Given the description of an element on the screen output the (x, y) to click on. 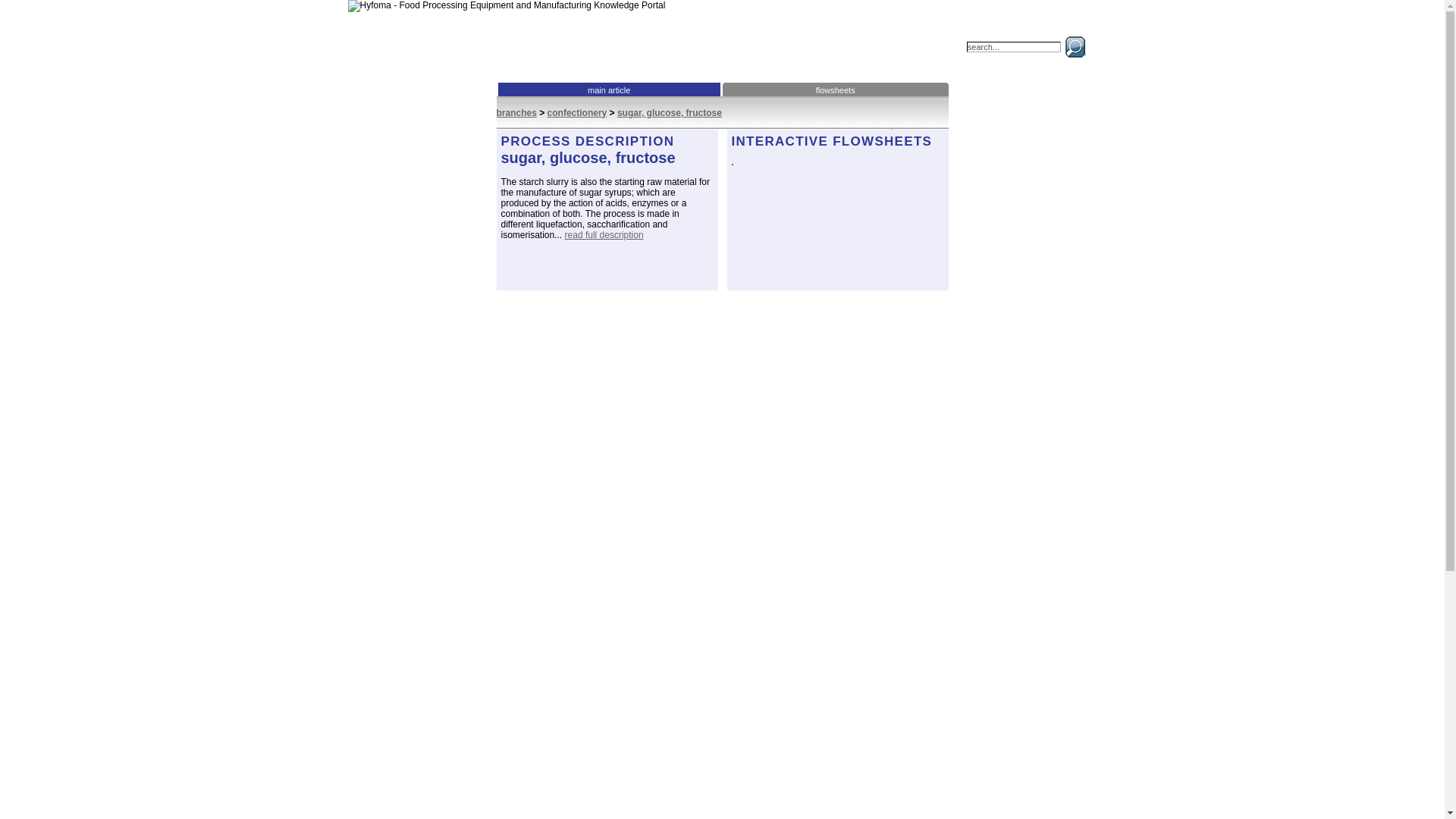
sugar, glucose, fructose (669, 112)
Deutsch (1037, 27)
confectionery (577, 112)
search... (1013, 46)
read full description (603, 235)
branches (515, 112)
Home (538, 34)
Submit (811, 237)
Espanol (1074, 27)
flowsheets (835, 89)
Nederlands (995, 27)
search... (1013, 46)
download article (917, 134)
main article (608, 89)
